Given the description of an element on the screen output the (x, y) to click on. 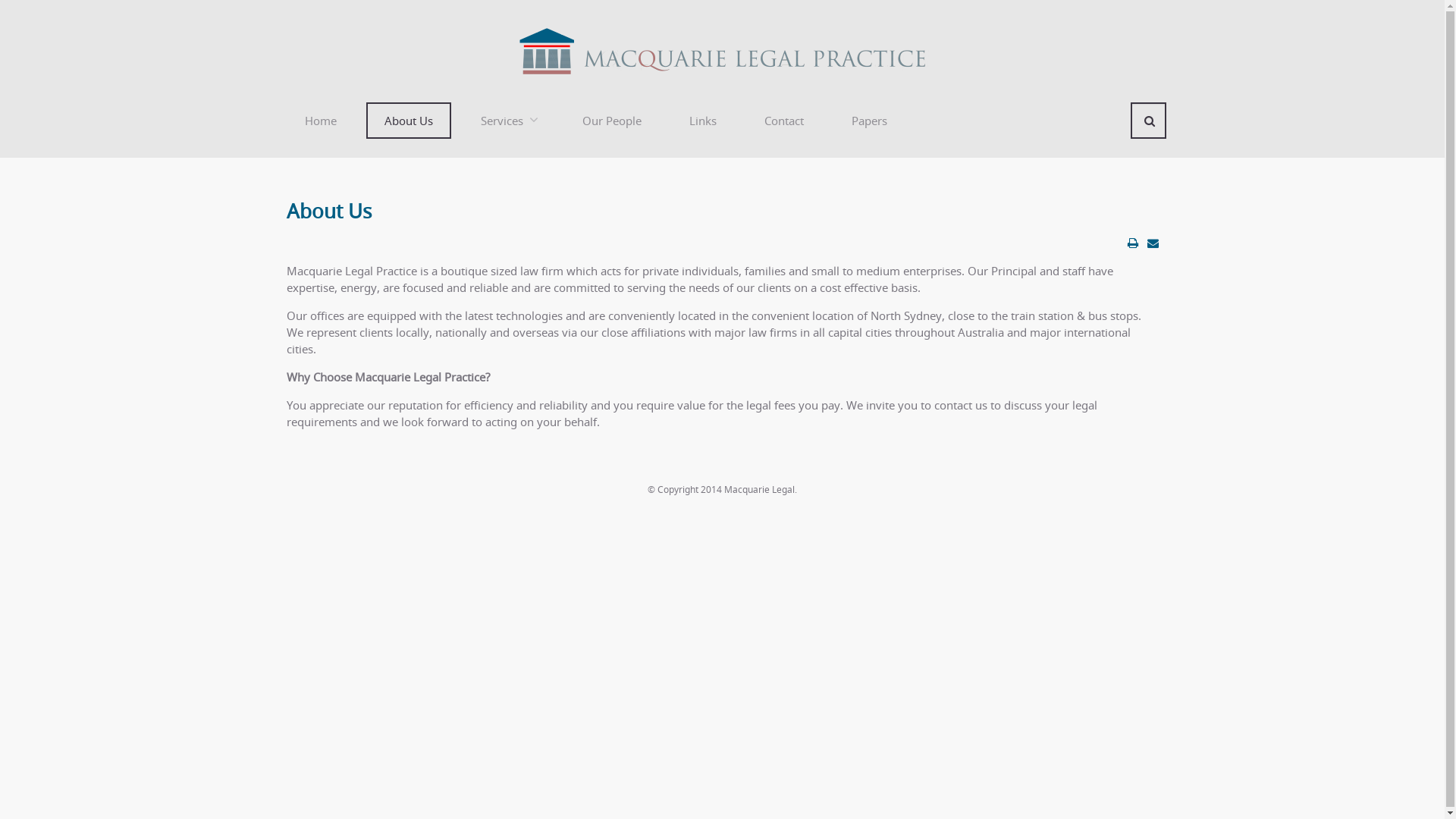
About Us Element type: text (328, 210)
Links Element type: text (701, 120)
Print article < About Us > Element type: hover (1131, 242)
Email this link to a friend Element type: hover (1151, 242)
Our People Element type: text (611, 120)
Papers Element type: text (868, 120)
Home Element type: text (320, 120)
Contact Element type: text (783, 120)
About Us Element type: text (407, 120)
Services Element type: text (507, 120)
